Given the description of an element on the screen output the (x, y) to click on. 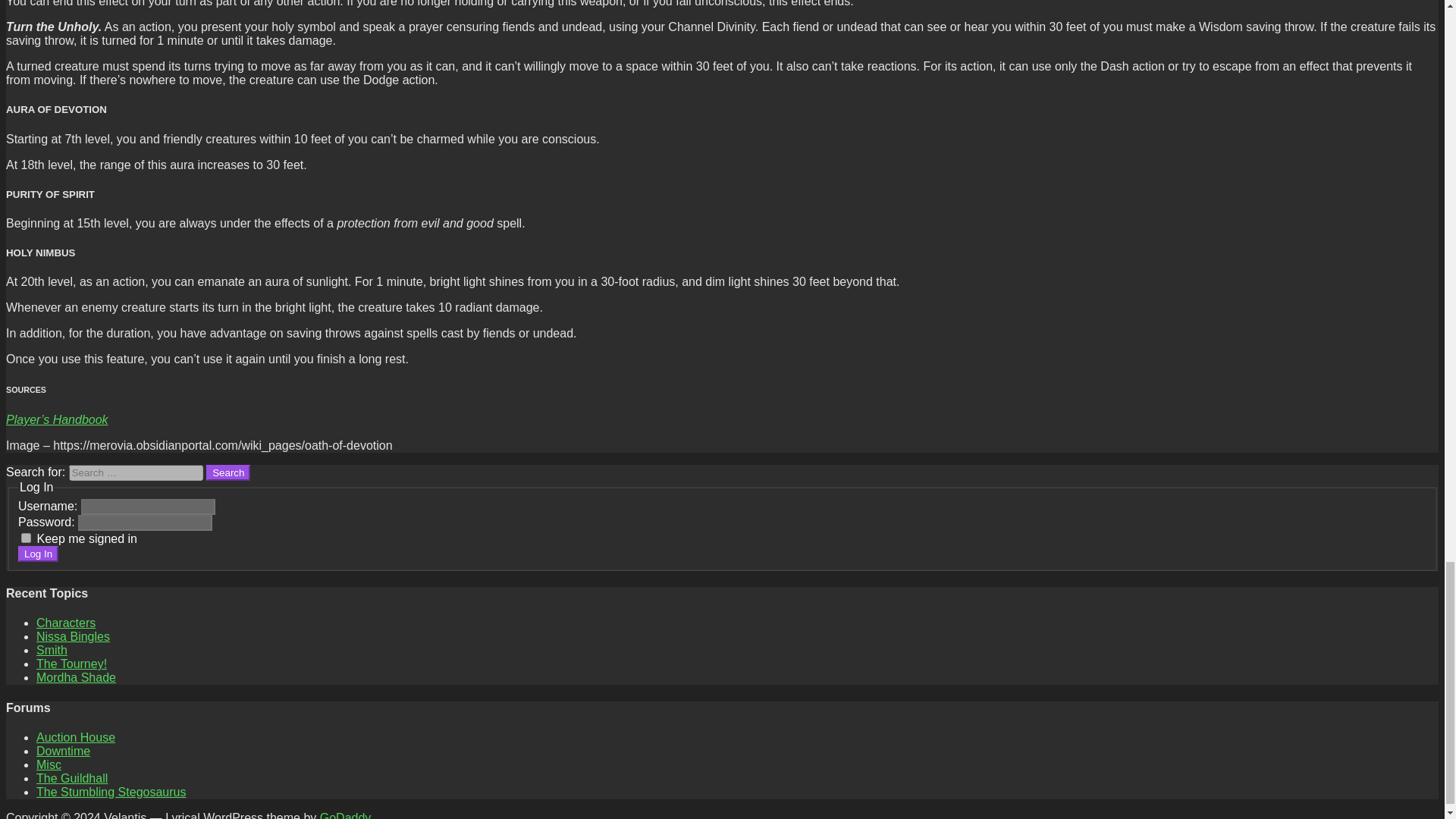
Search (228, 472)
Search (228, 472)
forever (25, 537)
